Given the description of an element on the screen output the (x, y) to click on. 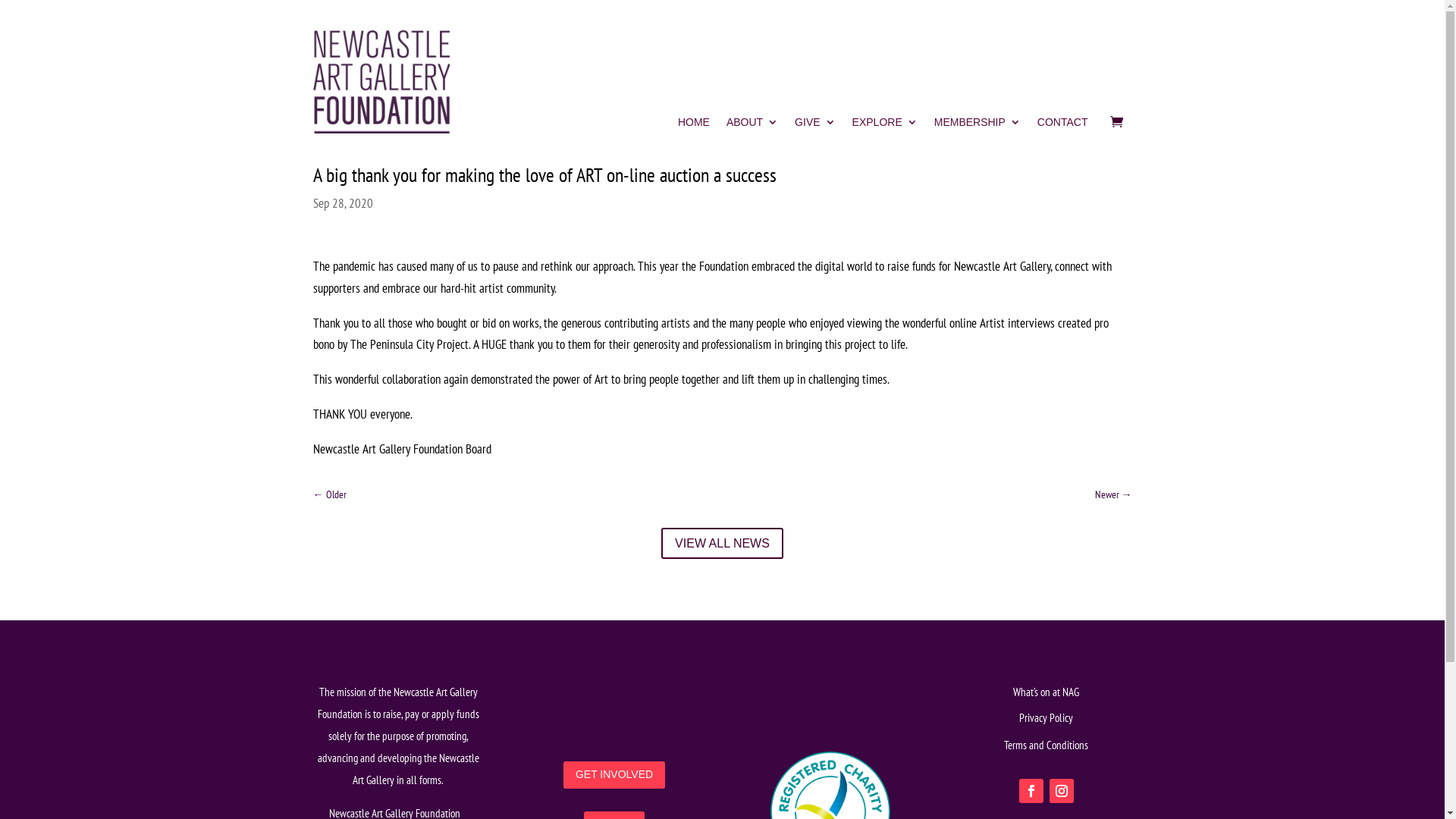
MEMBERSHIP Element type: text (977, 124)
EXPLORE Element type: text (884, 124)
Follow on Instagram Element type: hover (1061, 790)
Follow on Facebook Element type: hover (1031, 790)
VIEW ALL NEWS Element type: text (722, 542)
Terms and Conditions Element type: text (1046, 744)
CONTACT Element type: text (1062, 124)
HOME Element type: text (693, 124)
GET INVOLVED Element type: text (614, 774)
Newcastle Art Gallery Foundation Element type: hover (380, 81)
GIVE Element type: text (814, 124)
Privacy Policy Element type: text (1046, 717)
ABOUT Element type: text (752, 124)
